Given the description of an element on the screen output the (x, y) to click on. 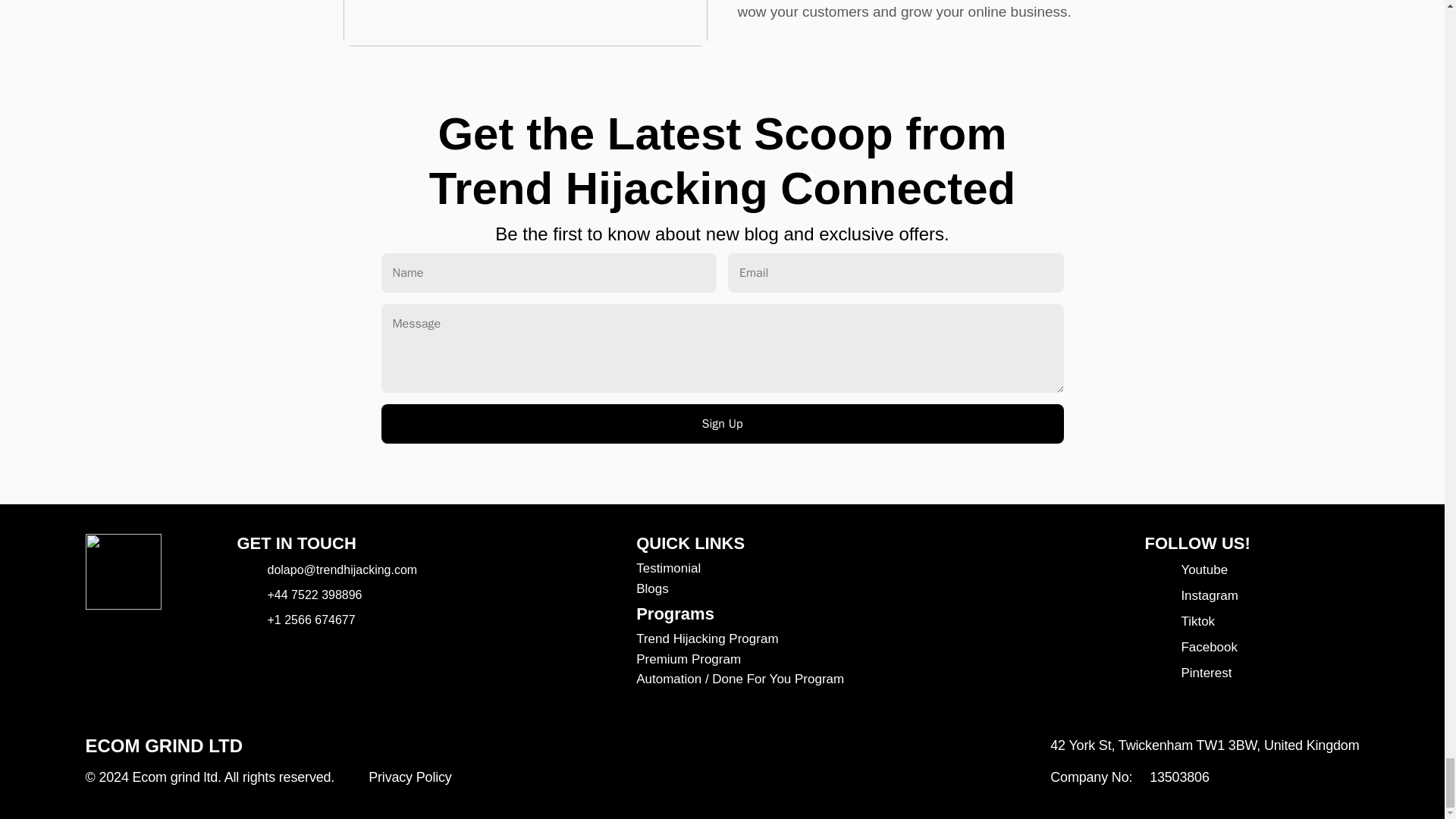
Sign Up (721, 423)
